Given the description of an element on the screen output the (x, y) to click on. 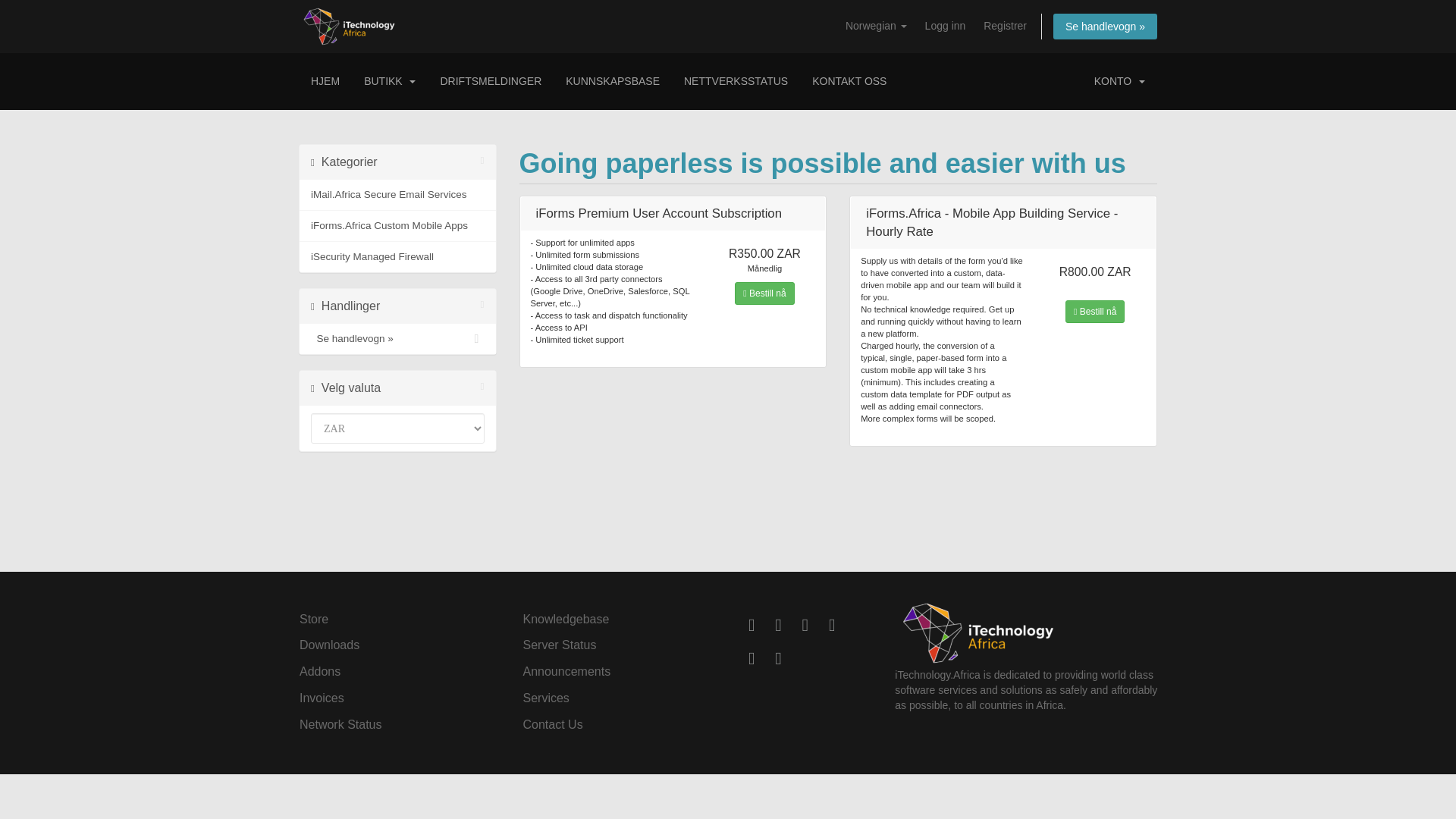
DRIFTSMELDINGER (490, 81)
BUTIKK   (390, 81)
Norwegian (876, 25)
Registrer (1004, 25)
Logg inn (945, 25)
HJEM (325, 81)
